Given the description of an element on the screen output the (x, y) to click on. 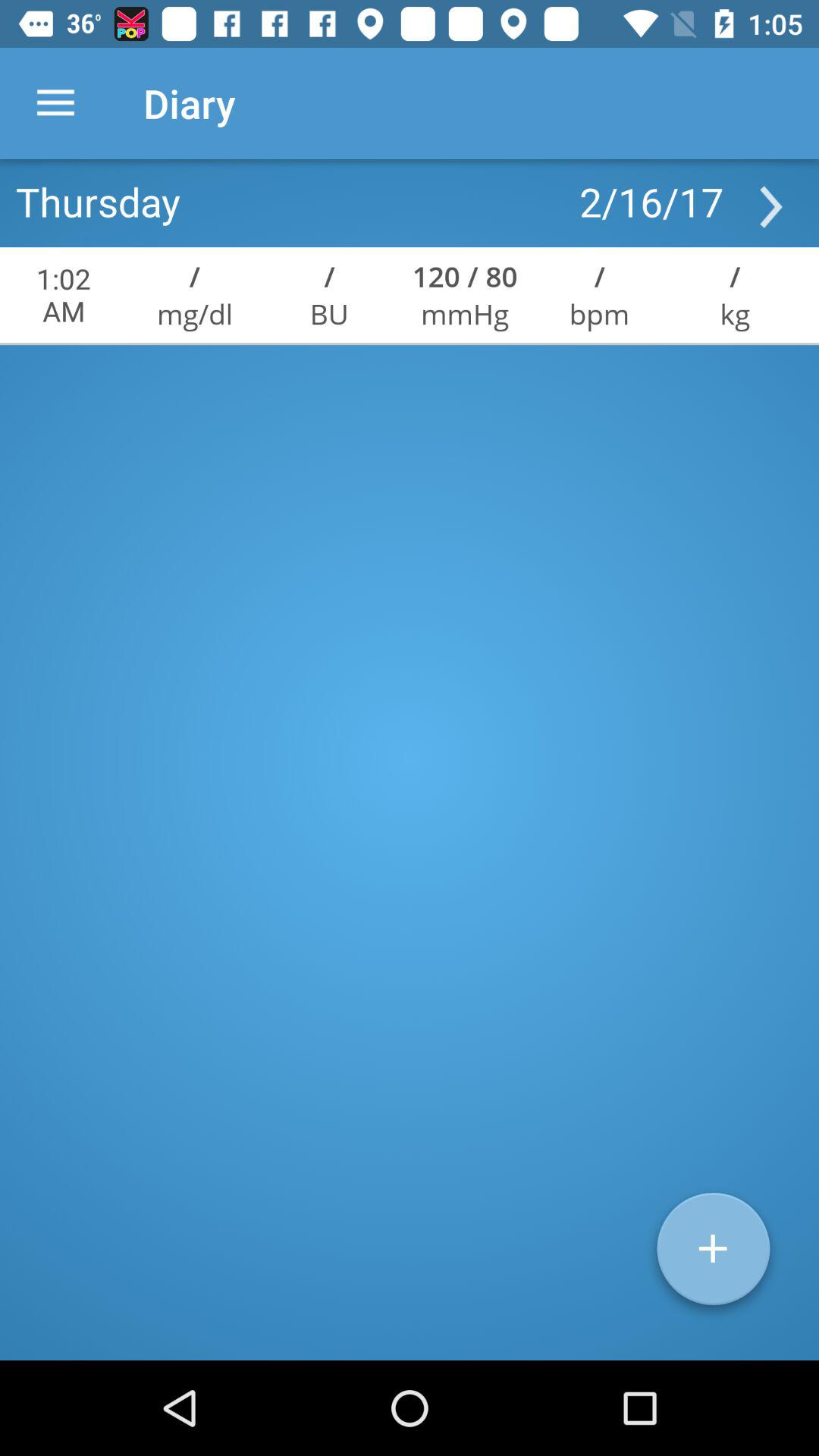
select 1:02
am item (63, 294)
